Given the description of an element on the screen output the (x, y) to click on. 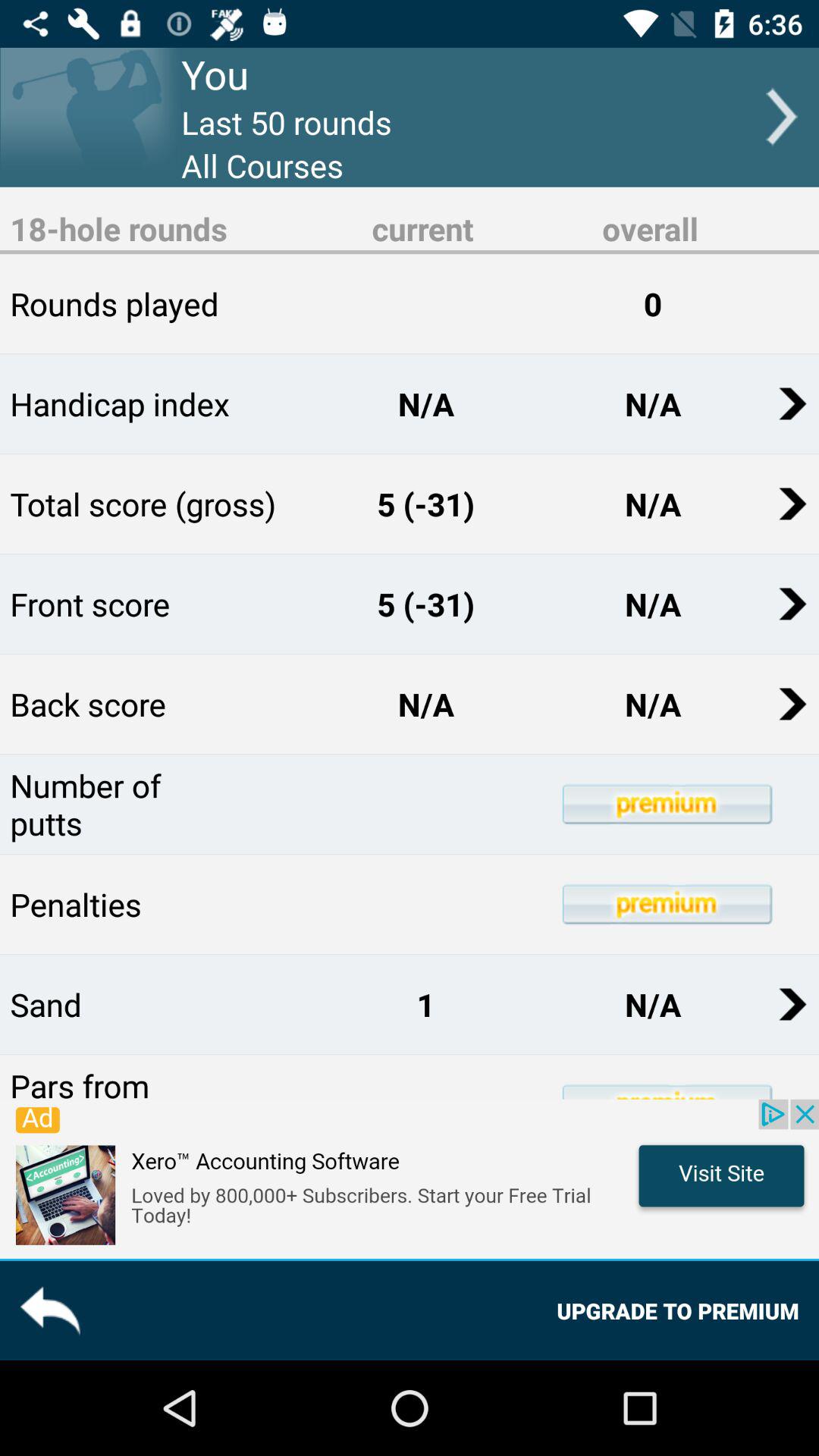
advertisement (409, 1178)
